Given the description of an element on the screen output the (x, y) to click on. 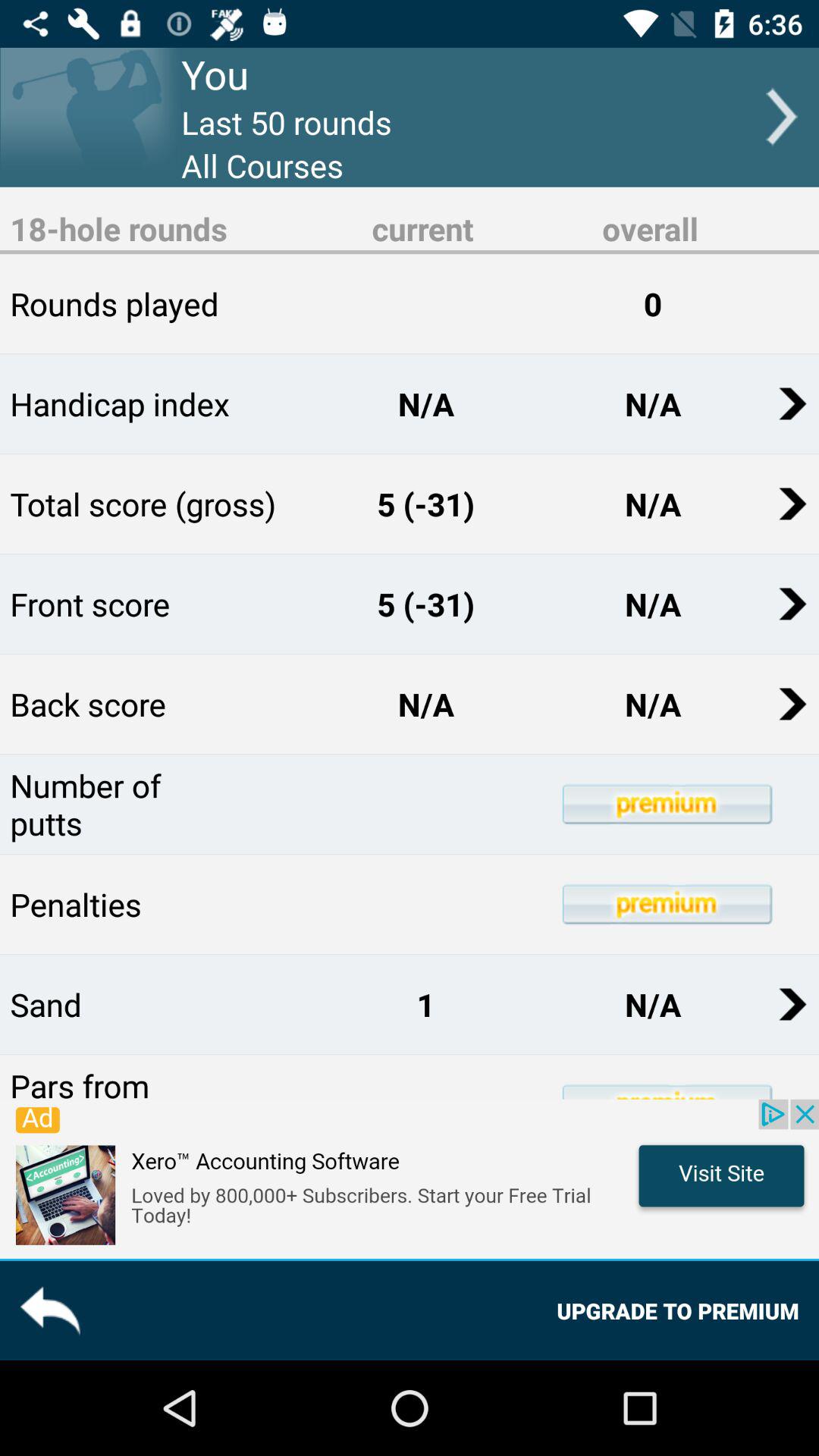
advertisement (409, 1178)
